Given the description of an element on the screen output the (x, y) to click on. 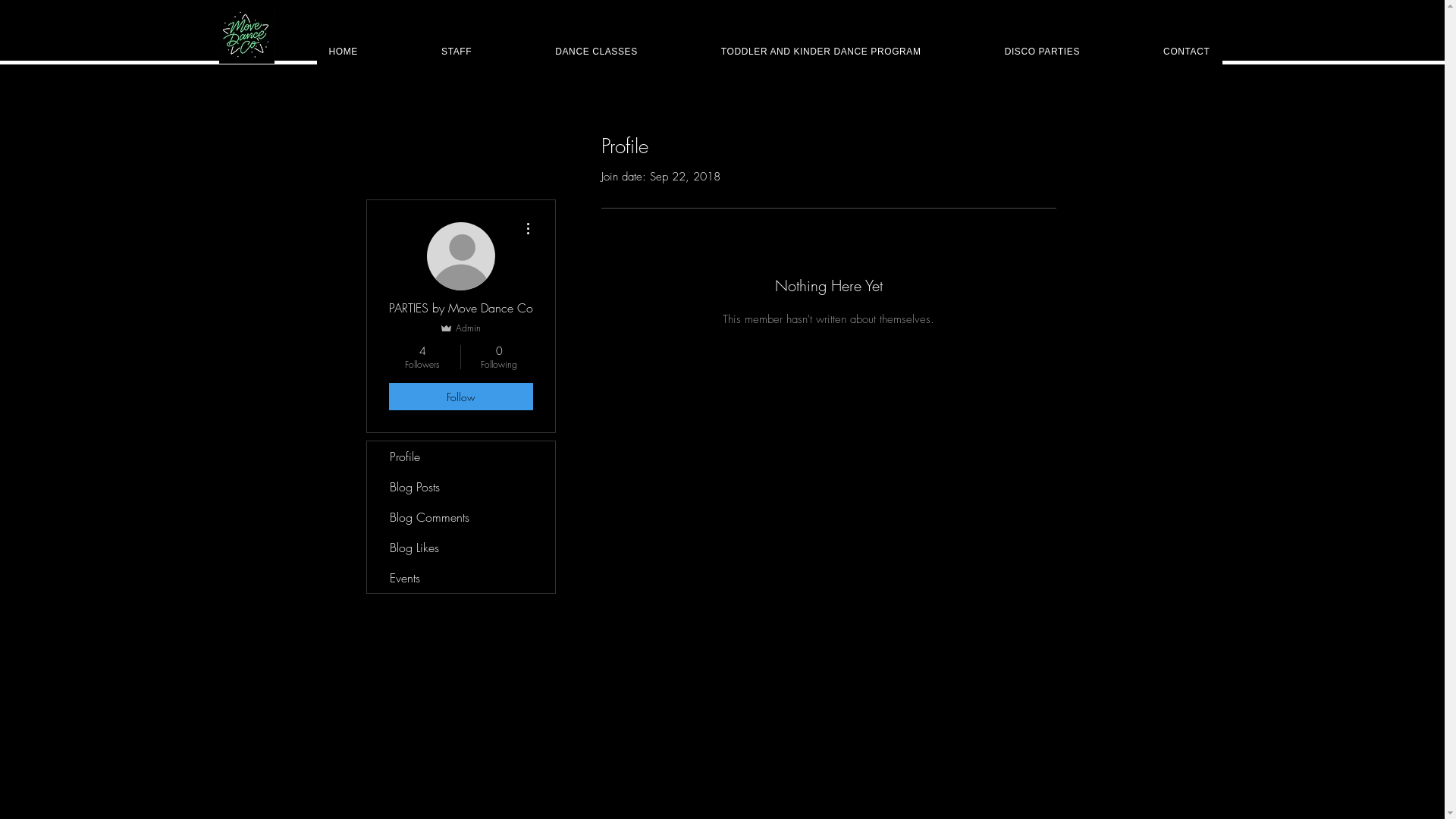
DISCO PARTIES Element type: text (1042, 51)
4
Followers Element type: text (421, 356)
STAFF Element type: text (456, 51)
Events Element type: text (461, 577)
Blog Posts Element type: text (461, 486)
HOME Element type: text (343, 51)
Follow Element type: text (460, 396)
TODDLER AND KINDER DANCE PROGRAM Element type: text (821, 51)
0
Following Element type: text (499, 356)
Blog Likes Element type: text (461, 547)
Blog Comments Element type: text (461, 517)
Profile Element type: text (461, 456)
CONTACT Element type: text (1186, 51)
DANCE CLASSES Element type: text (595, 51)
